Given the description of an element on the screen output the (x, y) to click on. 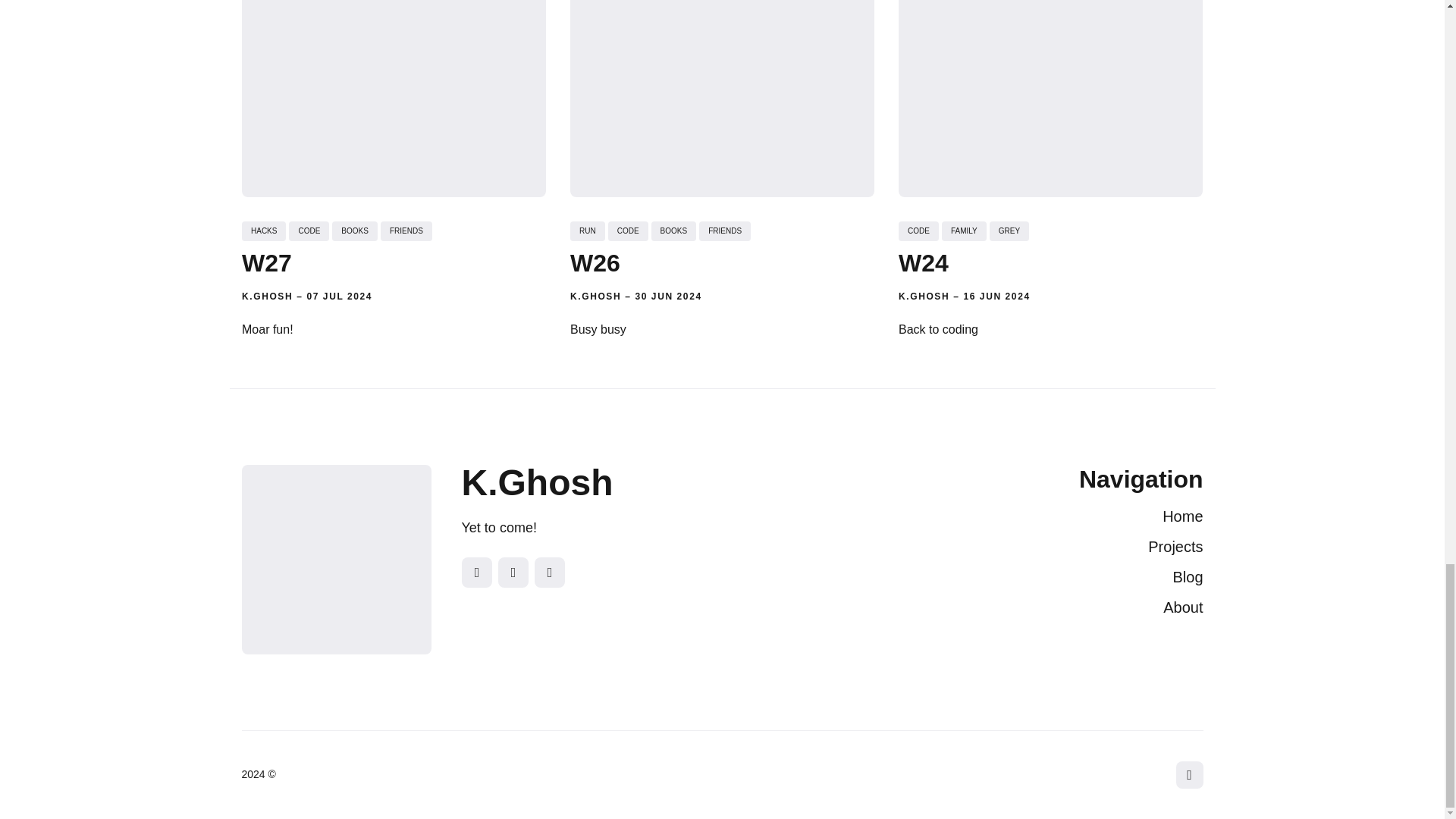
RUN (587, 230)
CODE (918, 230)
K.GHOSH (266, 296)
W26 (595, 262)
K.GHOSH (595, 296)
CODE (627, 230)
BOOKS (672, 230)
FRIENDS (405, 230)
CODE (308, 230)
BOOKS (354, 230)
